Given the description of an element on the screen output the (x, y) to click on. 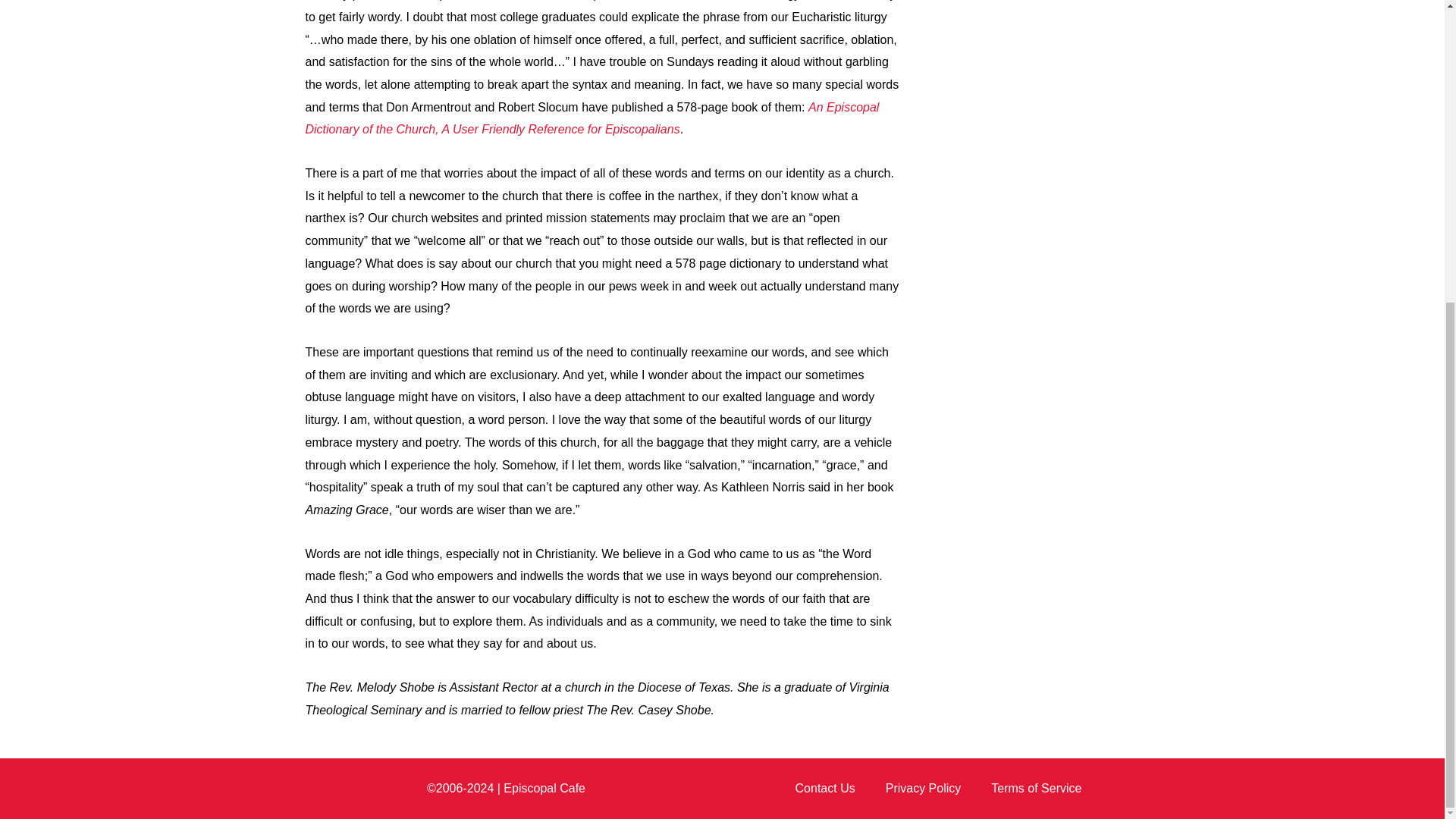
Privacy Policy (923, 788)
Terms of Service (1035, 788)
Contact Us (825, 788)
